Given the description of an element on the screen output the (x, y) to click on. 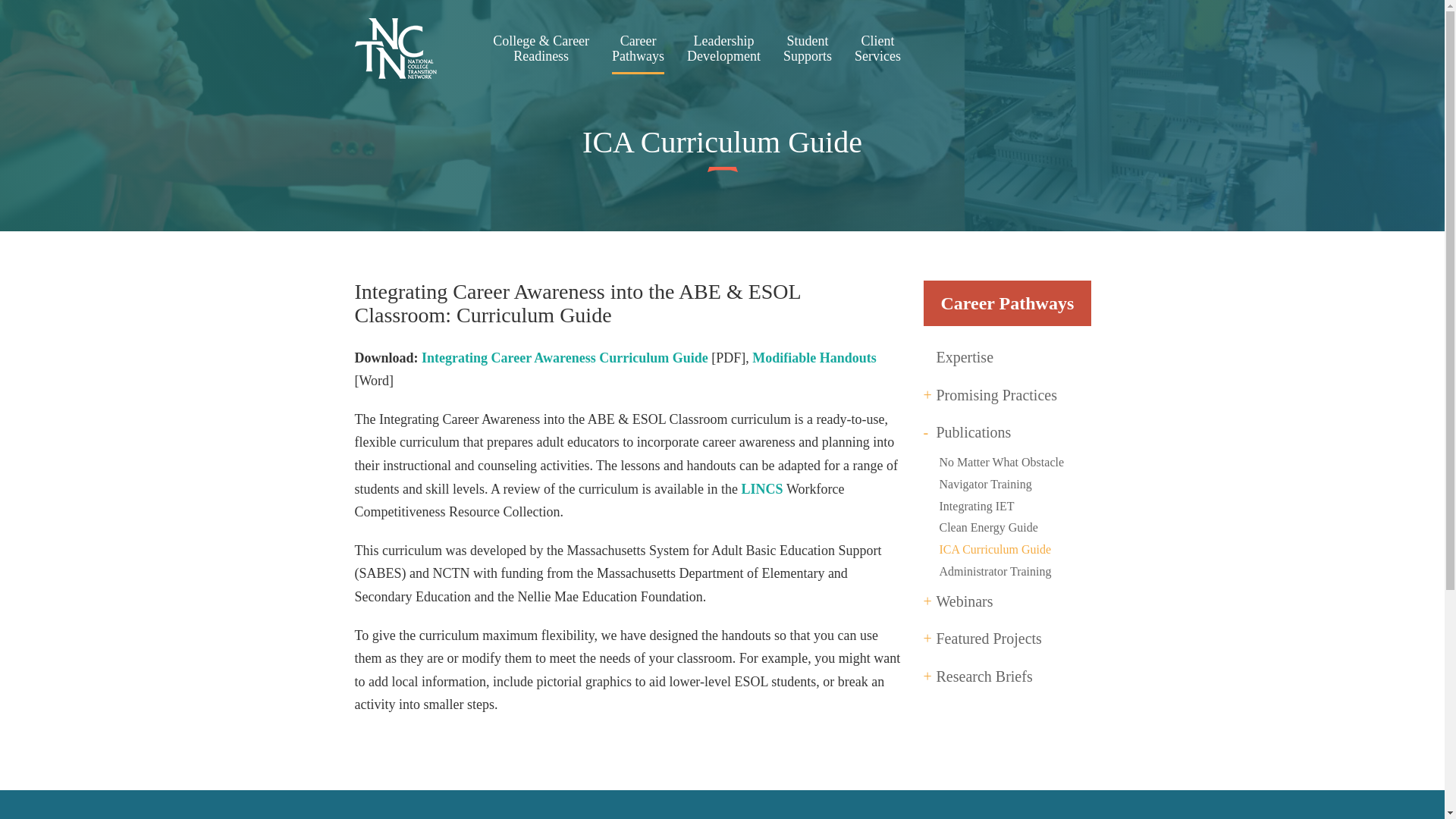
Modifiable Handouts (814, 357)
NCTN (395, 52)
Leadership Development (723, 53)
Expertise (964, 358)
Career Pathways (637, 53)
LINCS  (763, 488)
Integrating Career Awareness Curriculum Guide (807, 53)
Promising Practices (564, 357)
